Given the description of an element on the screen output the (x, y) to click on. 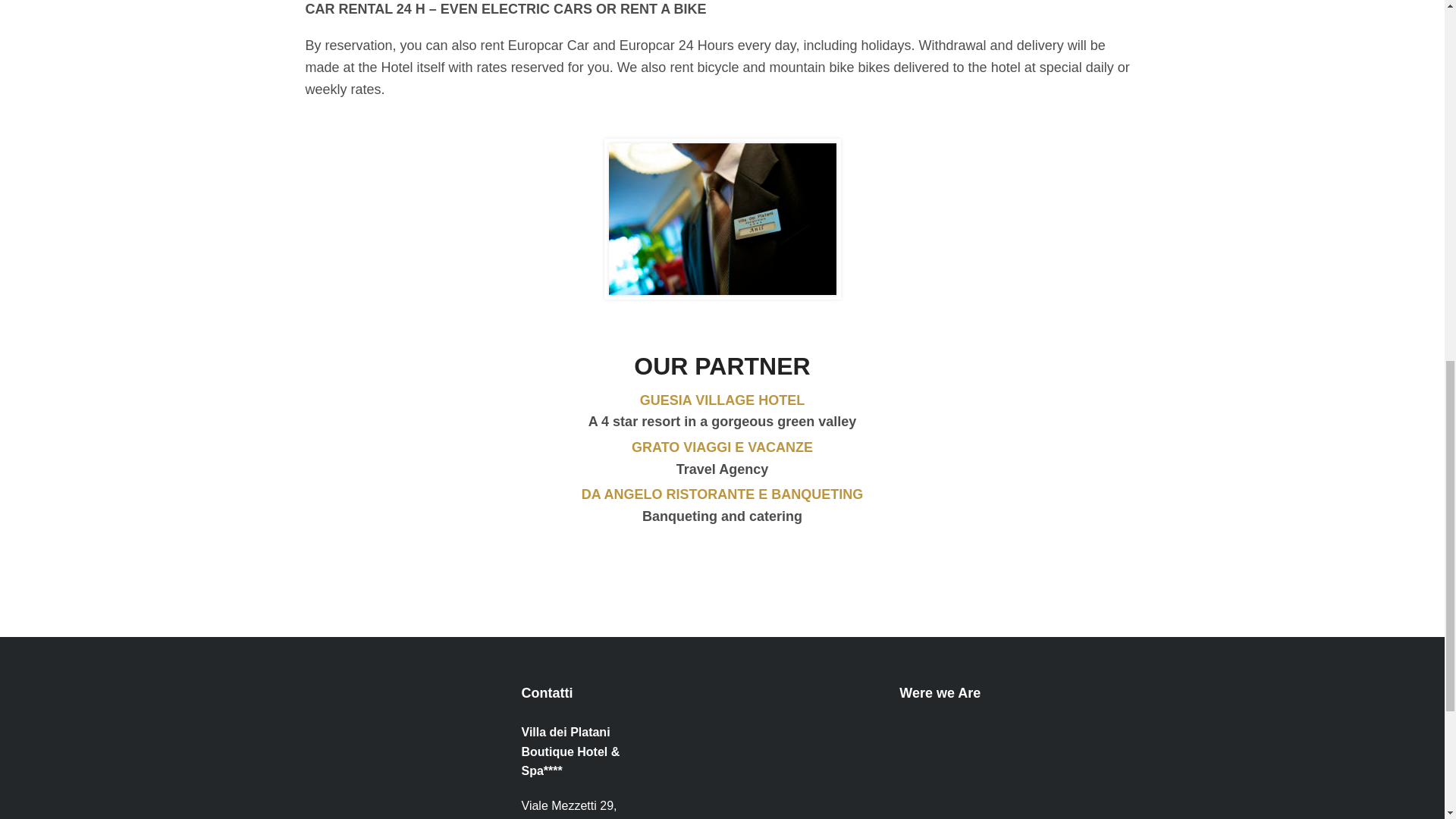
anil hd (721, 218)
